Given the description of an element on the screen output the (x, y) to click on. 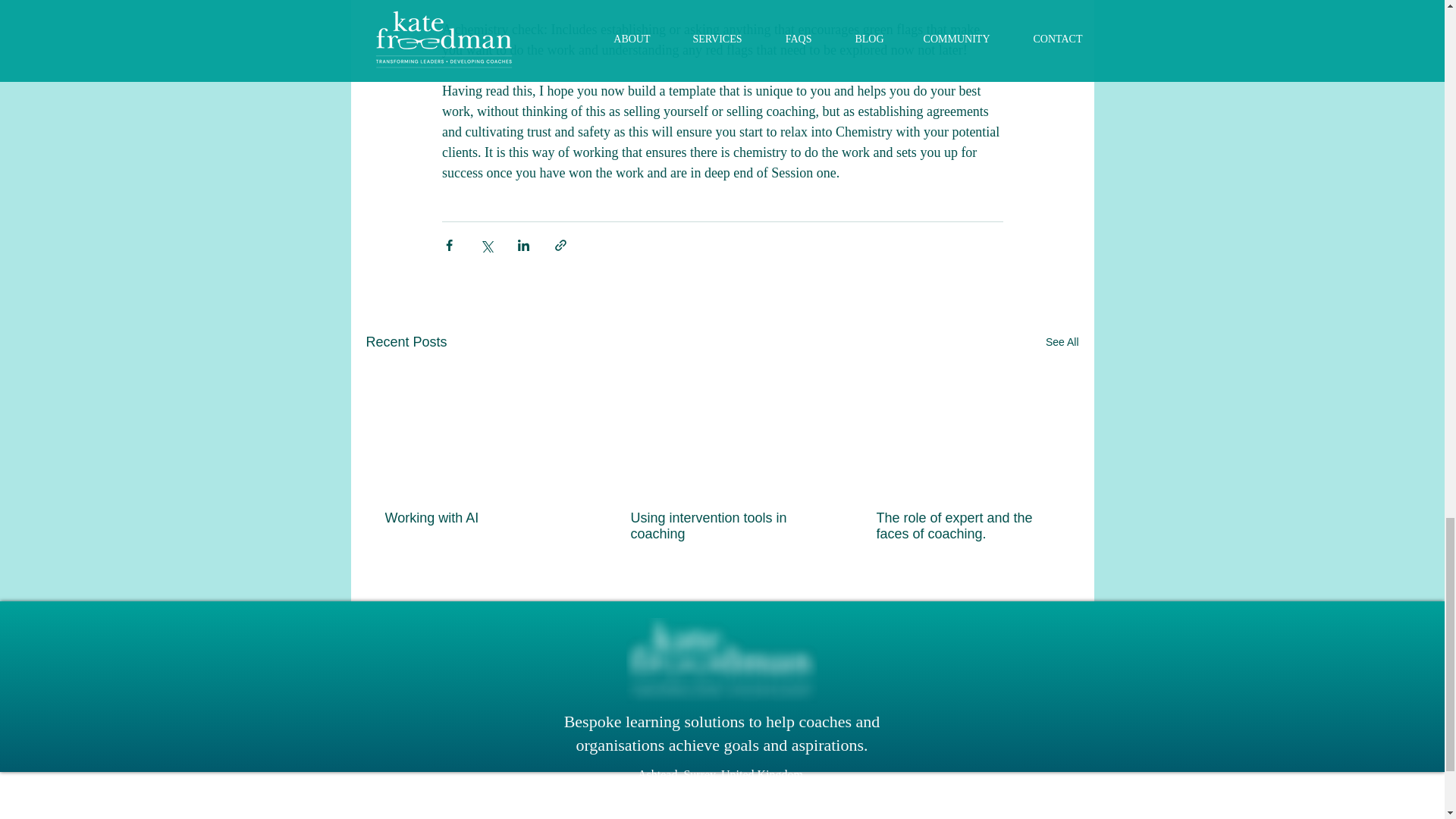
See All (1061, 341)
Using intervention tools in coaching (721, 526)
The role of expert and the faces of coaching. (967, 526)
Working with AI (476, 518)
0788 767 5481  (806, 796)
